Given the description of an element on the screen output the (x, y) to click on. 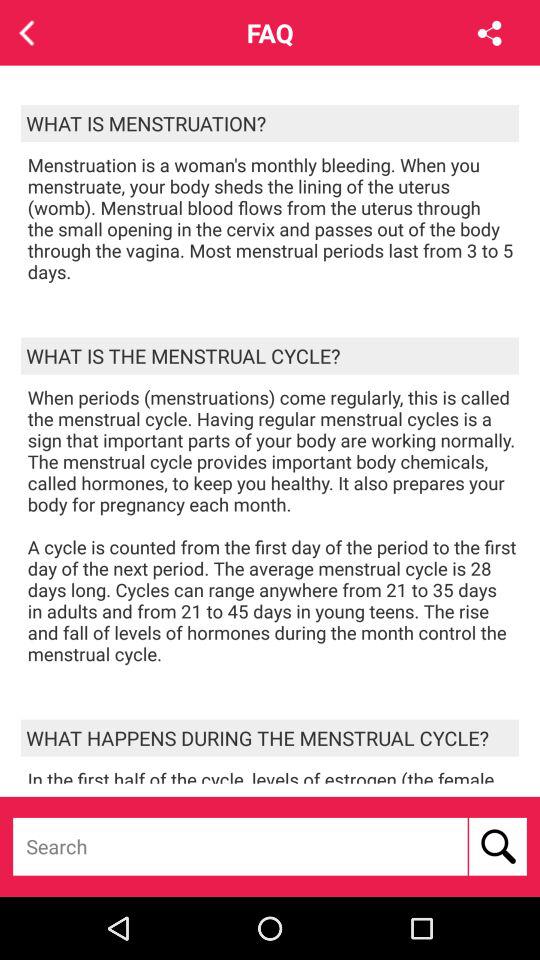
launch when periods menstruations (273, 525)
